Given the description of an element on the screen output the (x, y) to click on. 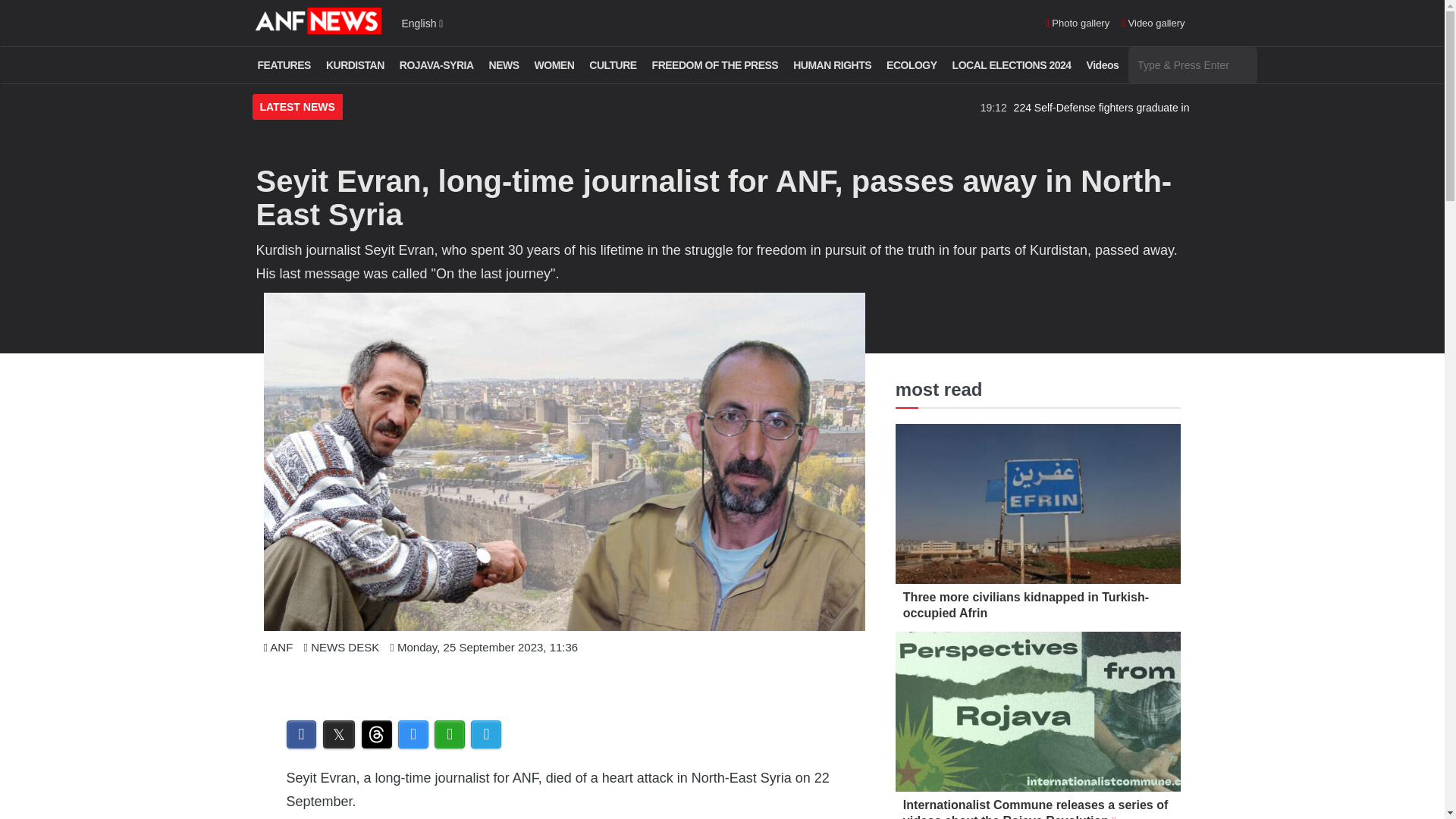
ROJAVA-SYRIA (436, 64)
FREEDOM OF THE PRESS (715, 64)
English (422, 23)
FEATURES (283, 64)
CULTURE (612, 64)
224 Self-Defense fighters graduate in al-Mansoura (1288, 107)
NEWS (503, 64)
Videos (1102, 64)
ECOLOGY (911, 64)
LOCAL ELECTIONS 2024 (1012, 64)
KURDISTAN (355, 64)
HUMAN RIGHTS (831, 64)
Video gallery (1152, 24)
WOMEN (554, 64)
Photo gallery (1077, 24)
